Given the description of an element on the screen output the (x, y) to click on. 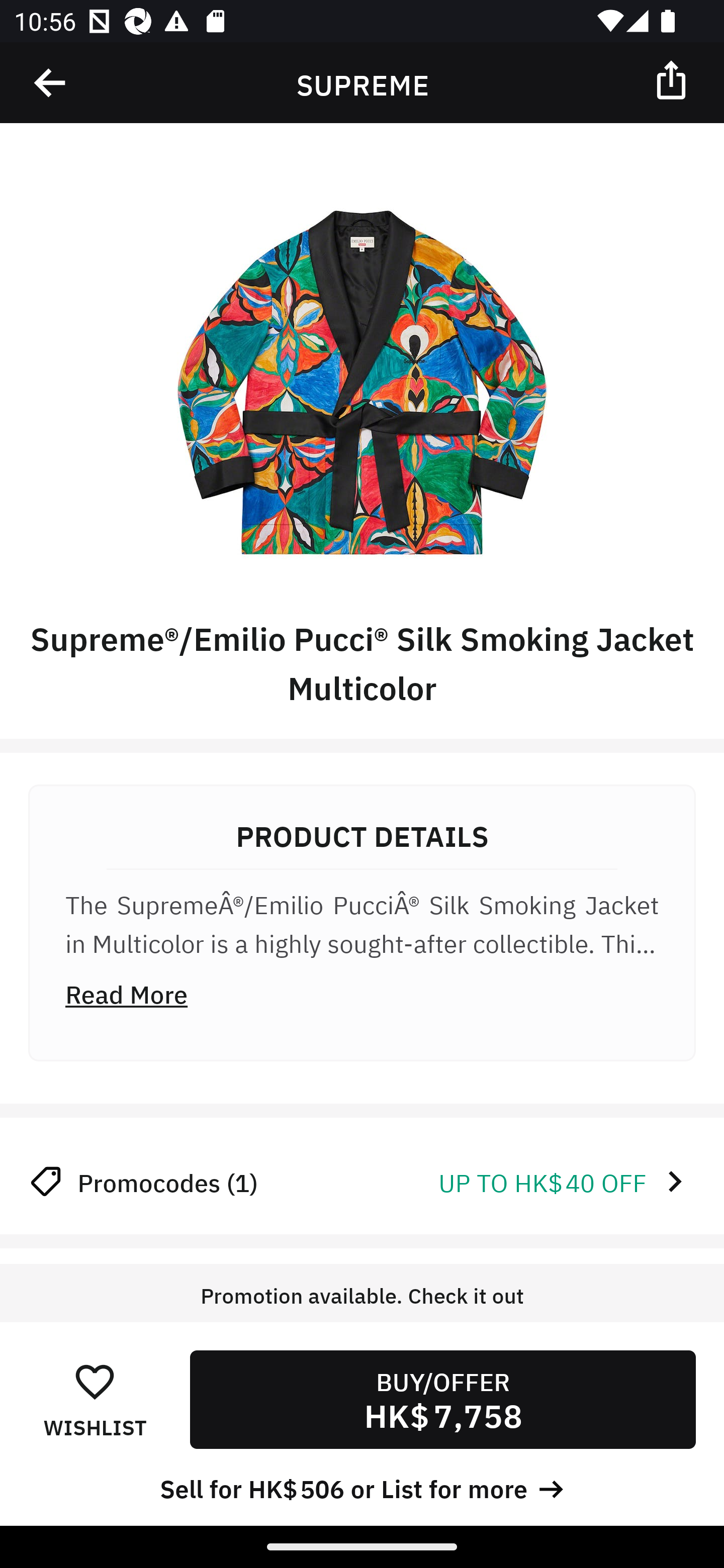
 (50, 83)
 (672, 79)
Promocodes (1) UP TO HK$ 40 OFF  (361, 1181)
BUY/OFFER HK$ 7,758 (442, 1399)
󰋕 (94, 1380)
Sell for HK$ 506 or List for more (361, 1486)
